Given the description of an element on the screen output the (x, y) to click on. 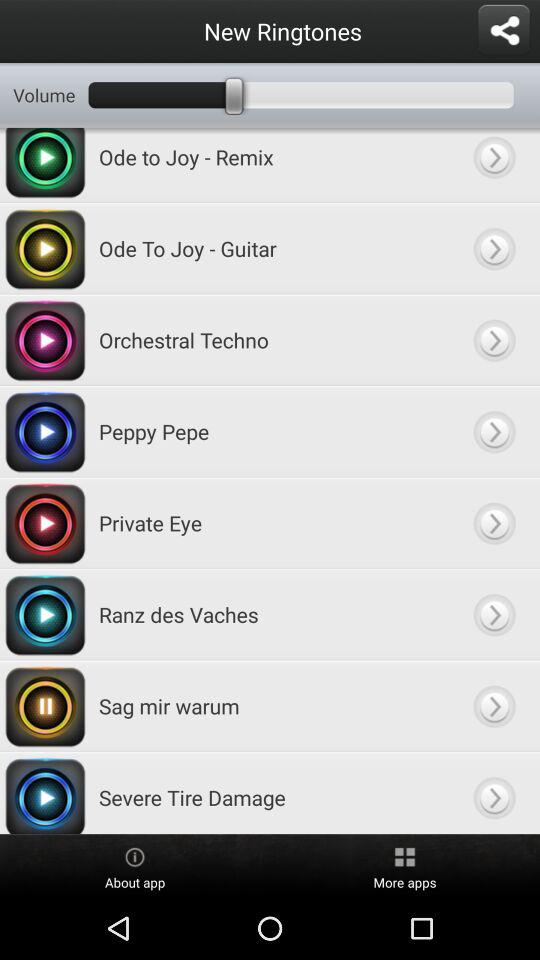
fackward (494, 522)
